Given the description of an element on the screen output the (x, y) to click on. 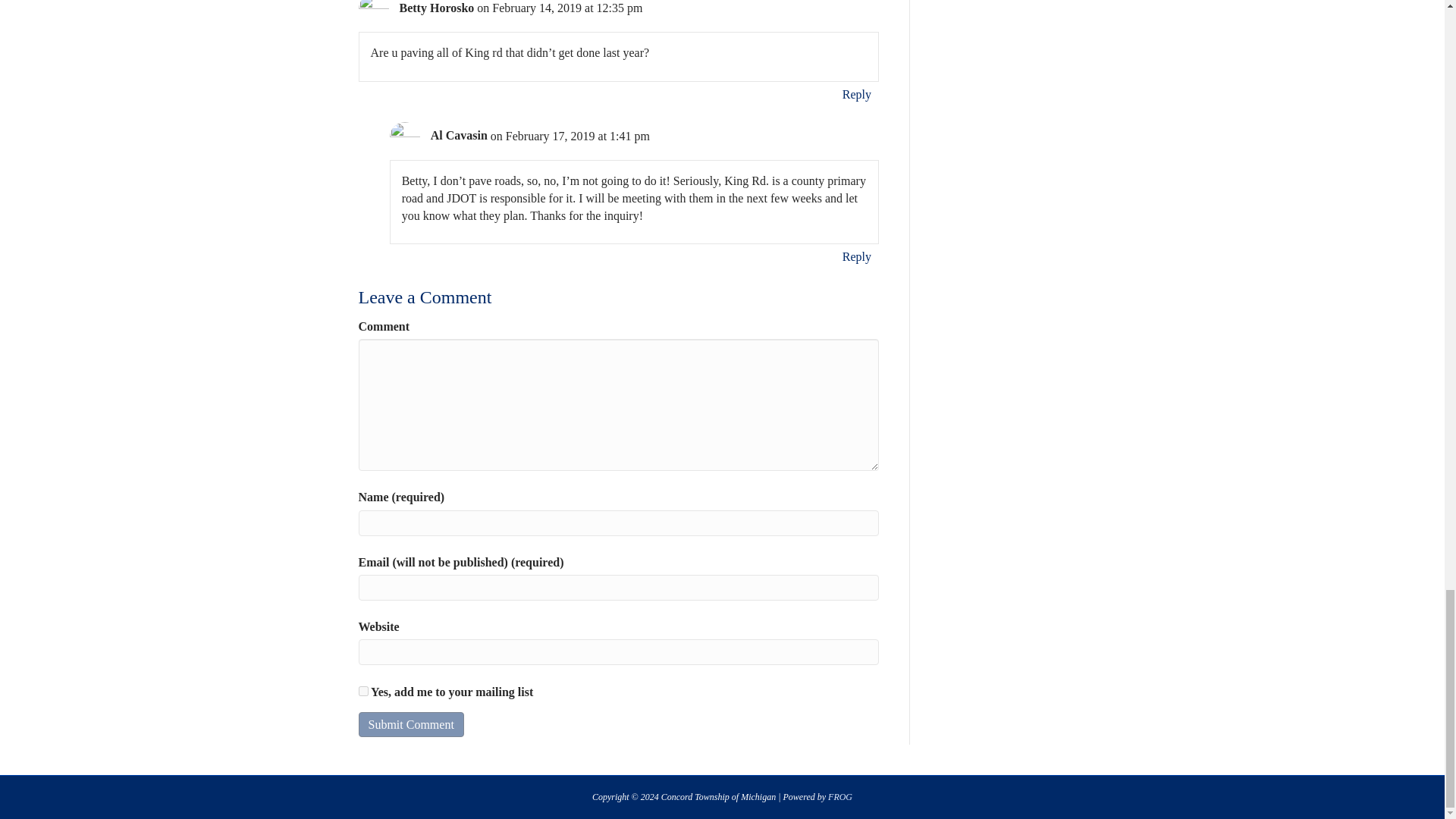
Reply (856, 256)
Submit Comment (410, 724)
Submit Comment (410, 724)
1 (363, 691)
Reply (856, 94)
Frog Productions (839, 796)
